Given the description of an element on the screen output the (x, y) to click on. 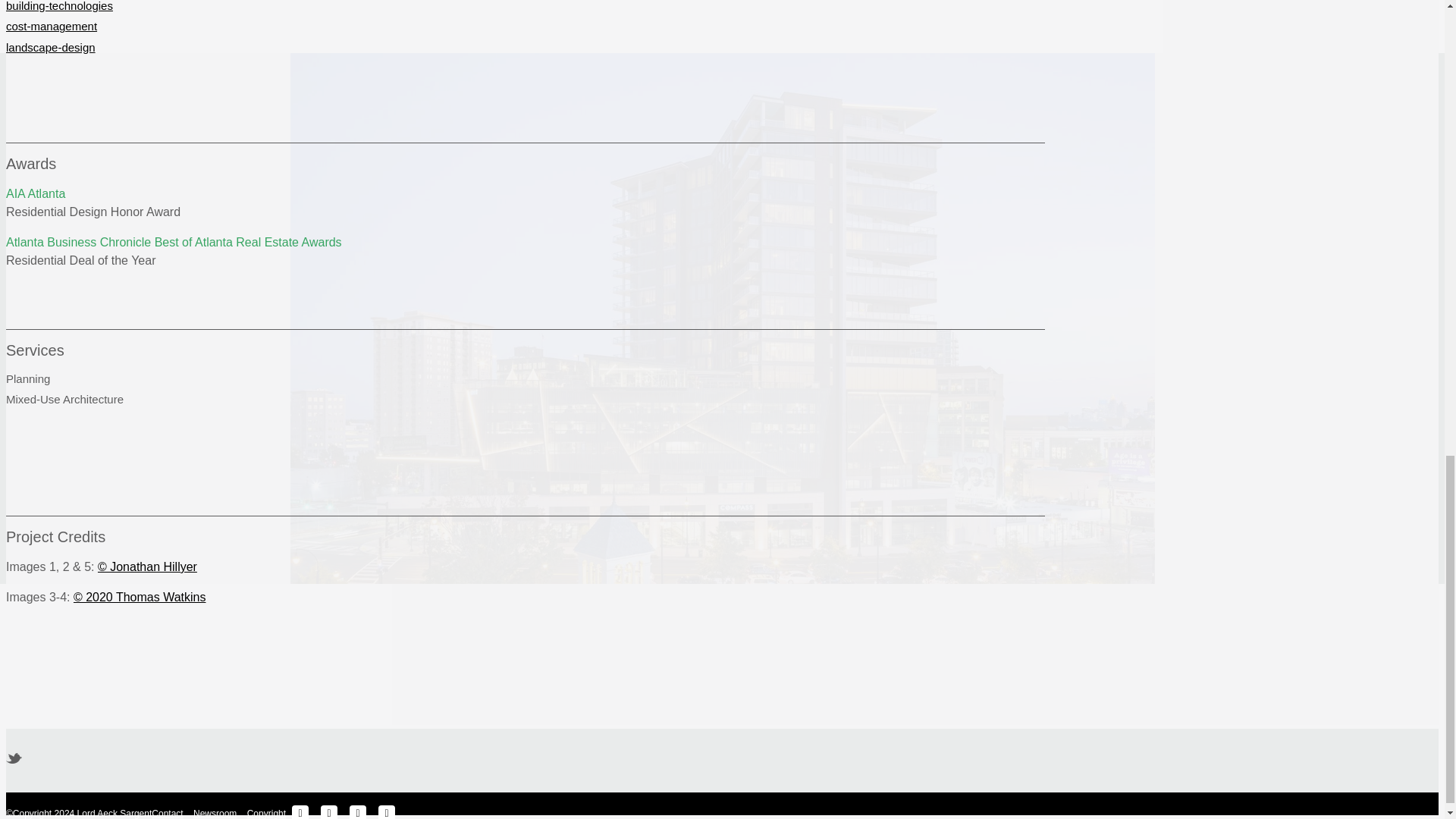
cost-management (51, 25)
building-technologies (59, 6)
